Given the description of an element on the screen output the (x, y) to click on. 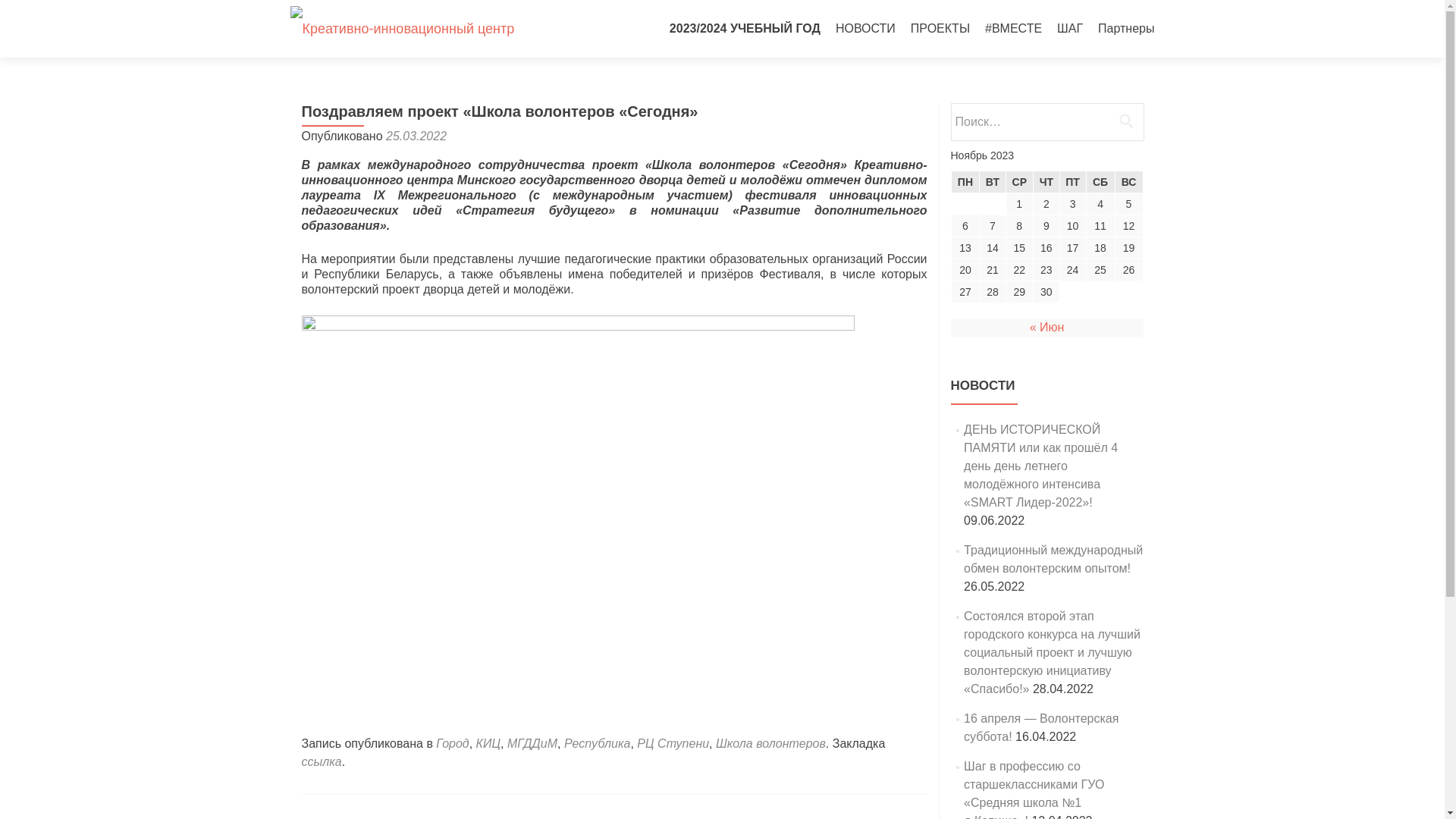
25.03.2022 Element type: text (415, 135)
